Given the description of an element on the screen output the (x, y) to click on. 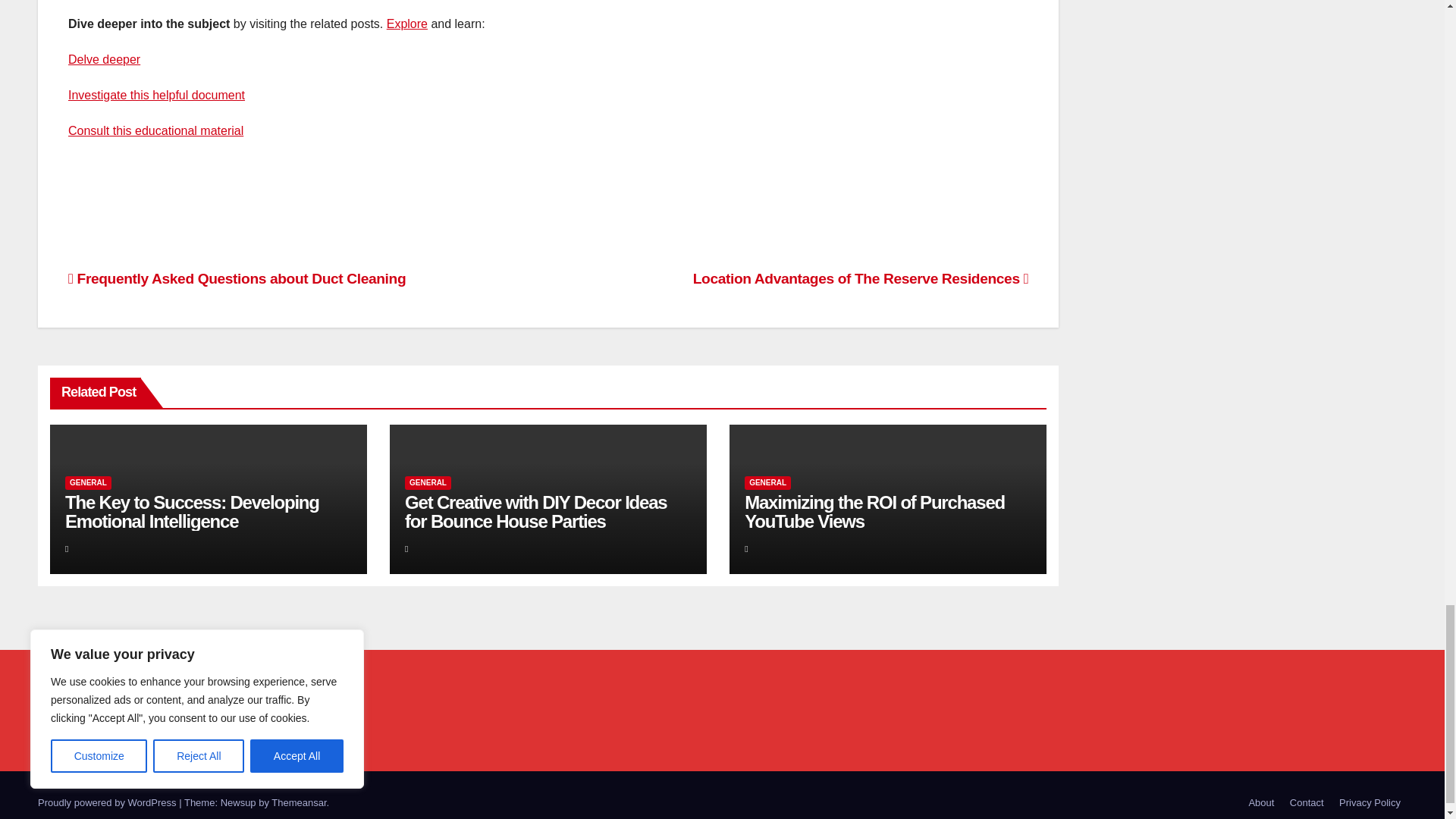
The Key to Success: Developing Emotional Intelligence (191, 511)
Privacy Policy (1369, 802)
Contact (1307, 802)
About (1260, 802)
Maximizing the ROI of Purchased YouTube Views (874, 511)
GENERAL (427, 482)
Get Creative with DIY Decor Ideas for Bounce House Parties (535, 511)
Consult this educational material (155, 130)
GENERAL (767, 482)
GENERAL (88, 482)
Explore (407, 23)
Frequently Asked Questions about Duct Cleaning (237, 278)
Delve deeper (103, 59)
Investigate this helpful document (156, 94)
